Given the description of an element on the screen output the (x, y) to click on. 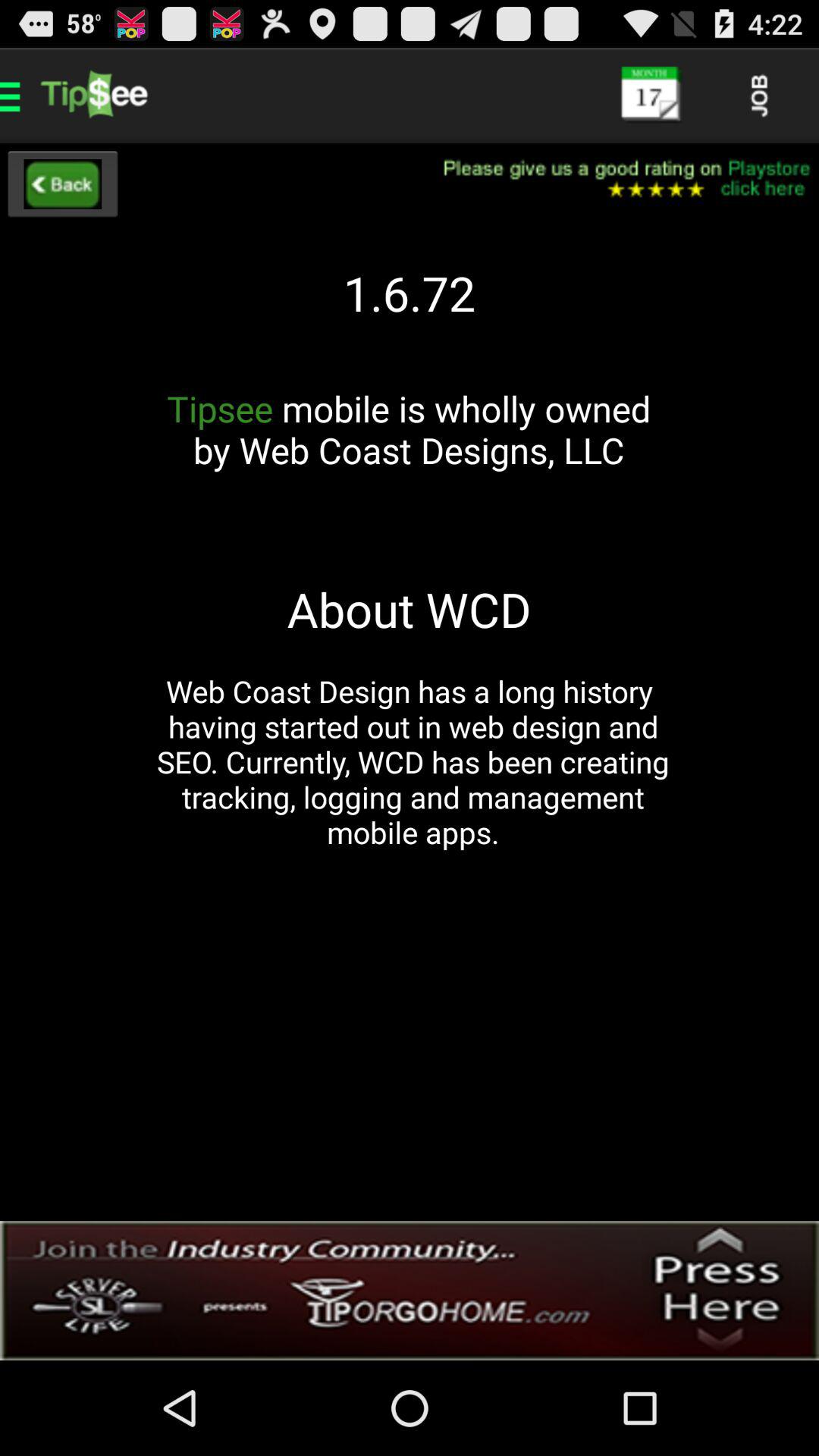
turn on icon below the web coast design icon (409, 1290)
